Given the description of an element on the screen output the (x, y) to click on. 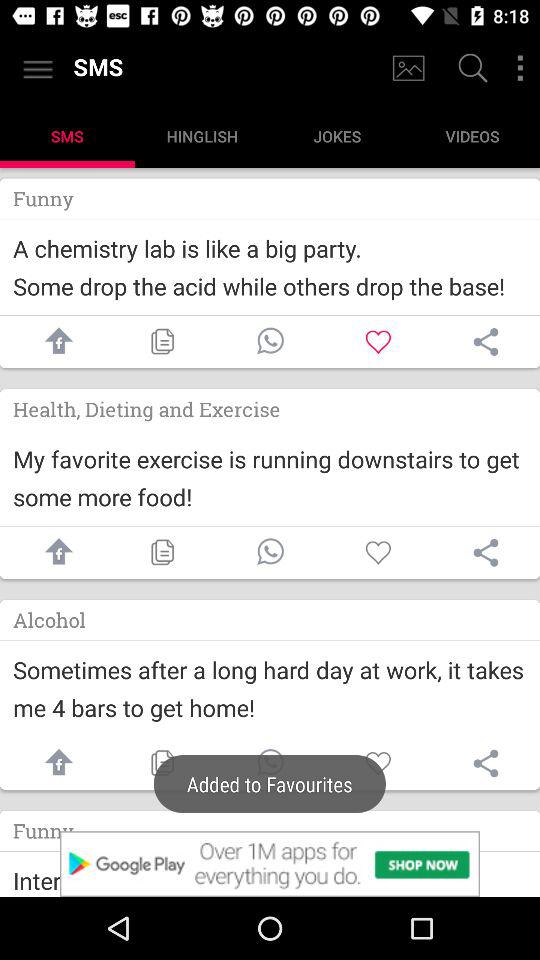
copy to clipboard (162, 763)
